Given the description of an element on the screen output the (x, y) to click on. 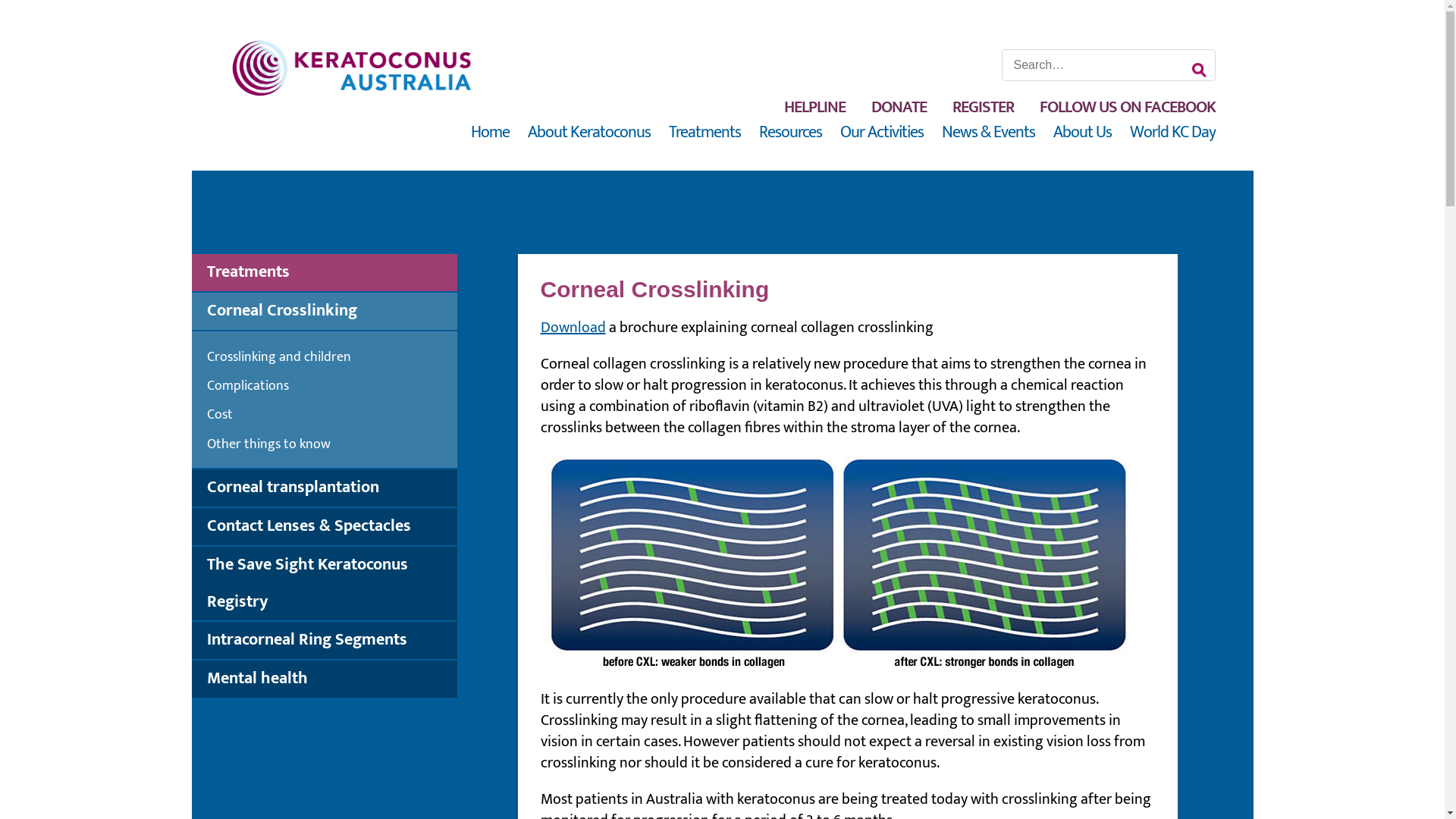
Treatments Element type: text (704, 132)
DONATE Element type: text (897, 107)
Crosslinking and children Element type: text (331, 357)
Mental health Element type: text (331, 678)
World KC Day Element type: text (1172, 132)
About Keratoconus Element type: text (588, 132)
Intracorneal Ring Segments Element type: text (331, 639)
Corneal transplantation Element type: text (331, 487)
Cost Element type: text (331, 414)
Home Element type: text (489, 132)
Complications Element type: text (331, 386)
Contact Lenses & Spectacles Element type: text (331, 526)
REGISTER Element type: text (982, 107)
News & Events Element type: text (988, 132)
About Us Element type: text (1081, 132)
Treatments Element type: text (331, 272)
The Save Sight Keratoconus Registry Element type: text (331, 583)
FOLLOW US ON FACEBOOK Element type: text (1126, 107)
Other things to know Element type: text (331, 444)
Our Activities Element type: text (881, 132)
Download Element type: text (572, 327)
HELPLINE Element type: text (814, 107)
Resources Element type: text (789, 132)
Corneal Crosslinking Element type: text (331, 310)
